Given the description of an element on the screen output the (x, y) to click on. 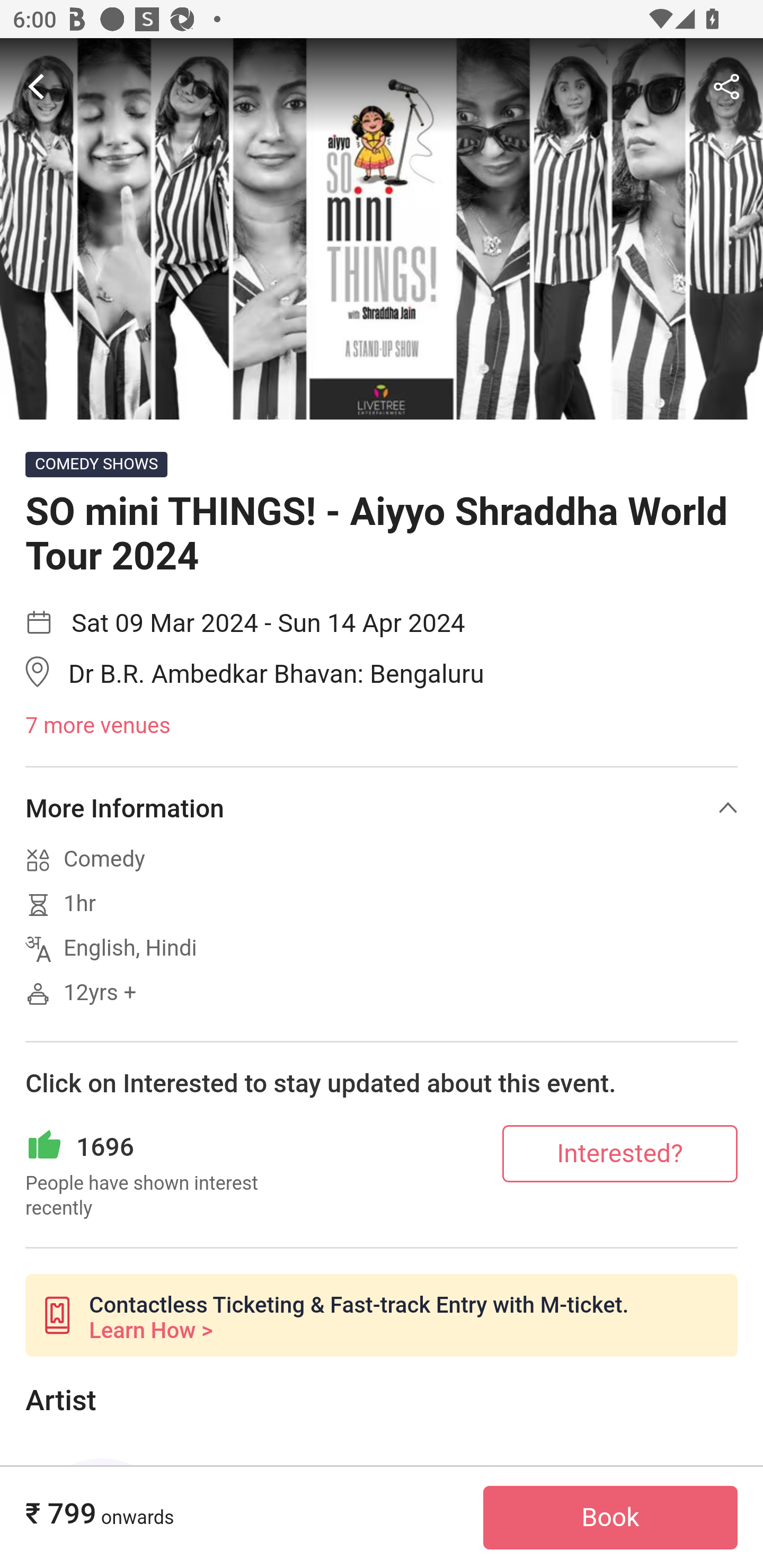
7 more venues (381, 725)
More Information (381, 807)
Interested? (619, 1153)
Learn How > (150, 1330)
Book (609, 1517)
